Given the description of an element on the screen output the (x, y) to click on. 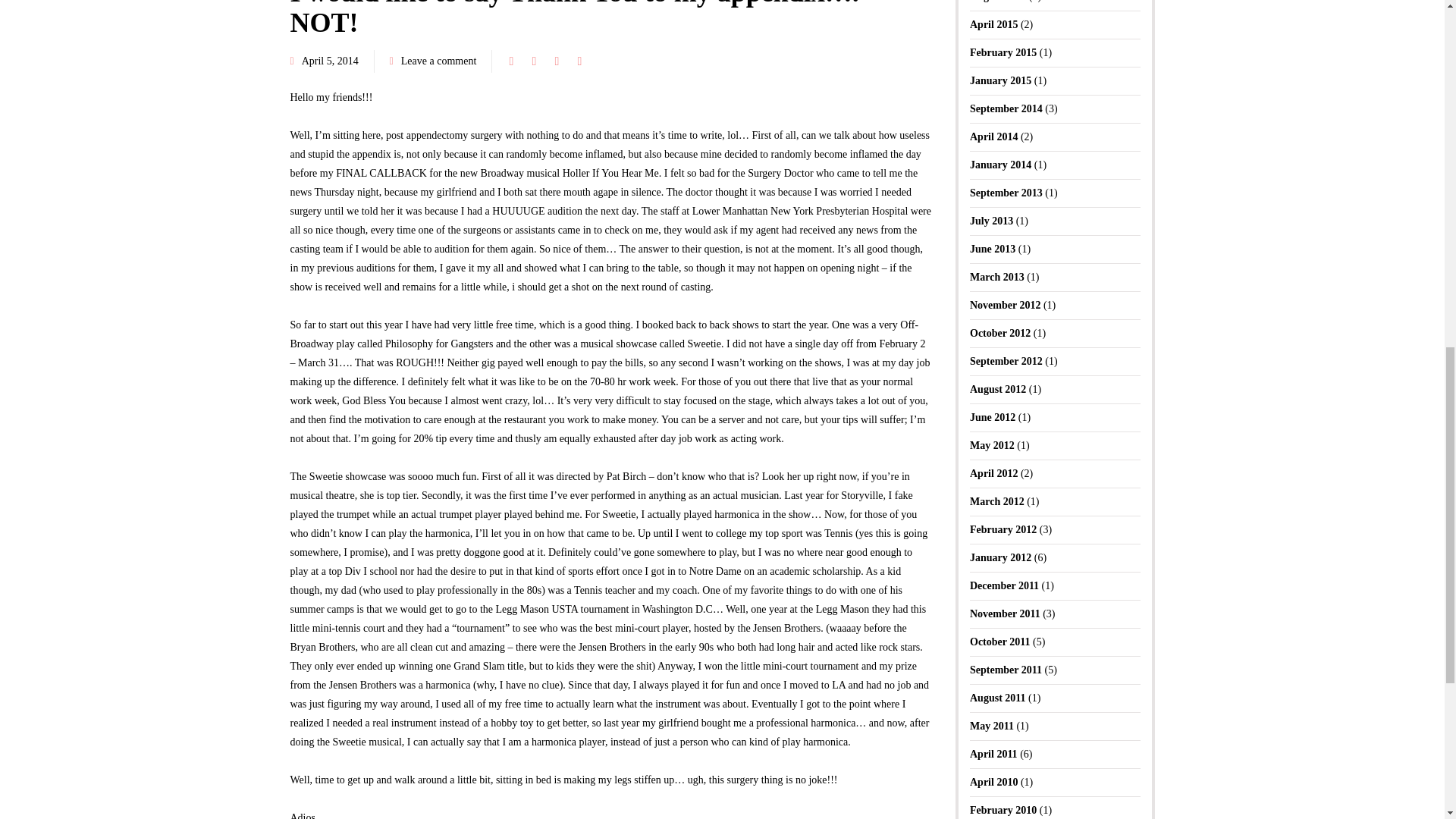
Leave a comment (439, 60)
Pin this (579, 60)
Share with Google Plus (555, 60)
Share this (510, 60)
Tweet this (533, 60)
Post comments (433, 60)
